Given the description of an element on the screen output the (x, y) to click on. 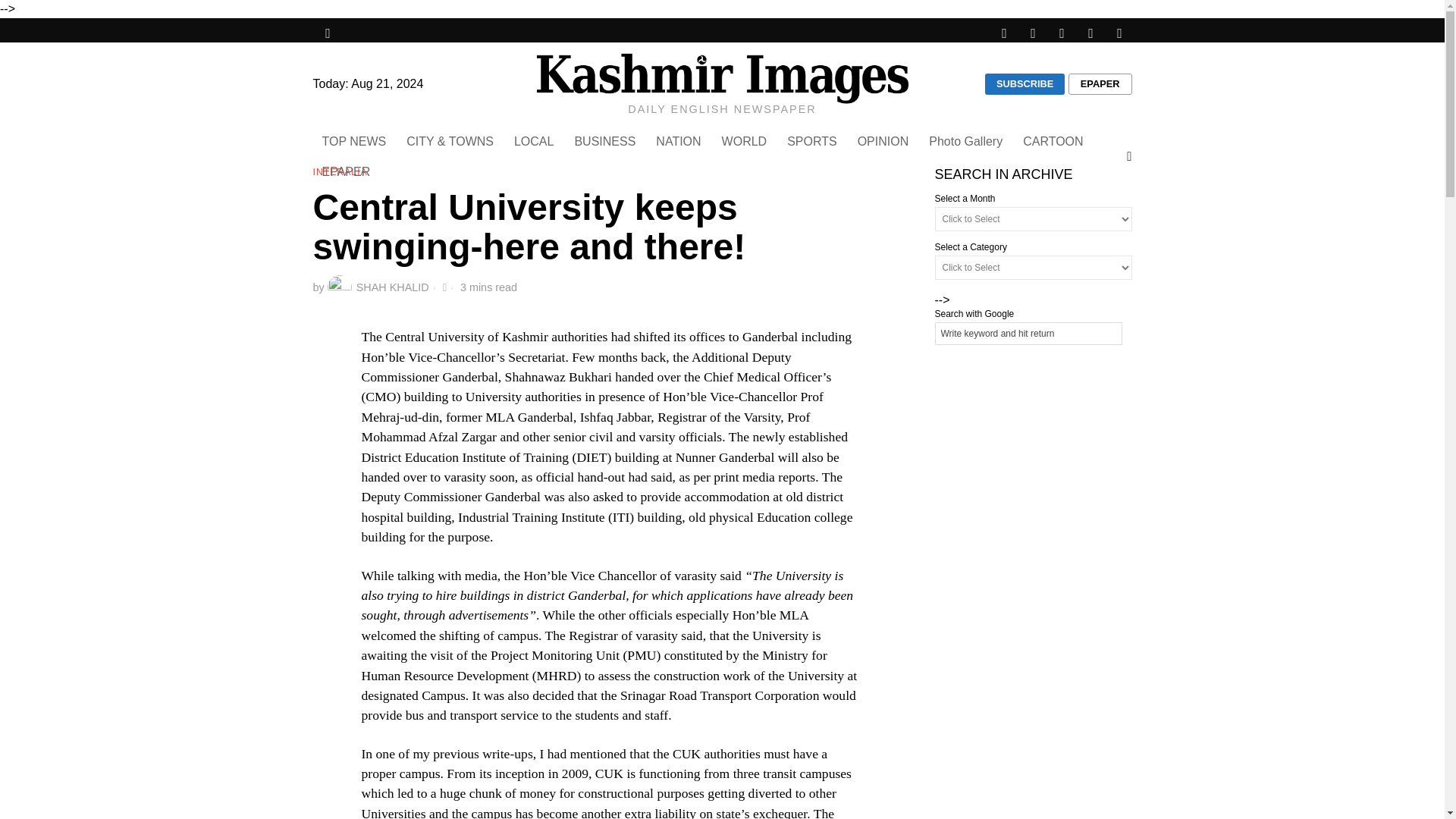
SPORTS (812, 141)
EPAPER (347, 172)
SUBSCRIBE (1024, 84)
CARTOON (1053, 141)
EPAPER (1100, 84)
SHAH KHALID (378, 287)
LOCAL (534, 141)
Photo Gallery (966, 141)
WORLD (745, 141)
Write keyword and hit return (1027, 333)
